Given the description of an element on the screen output the (x, y) to click on. 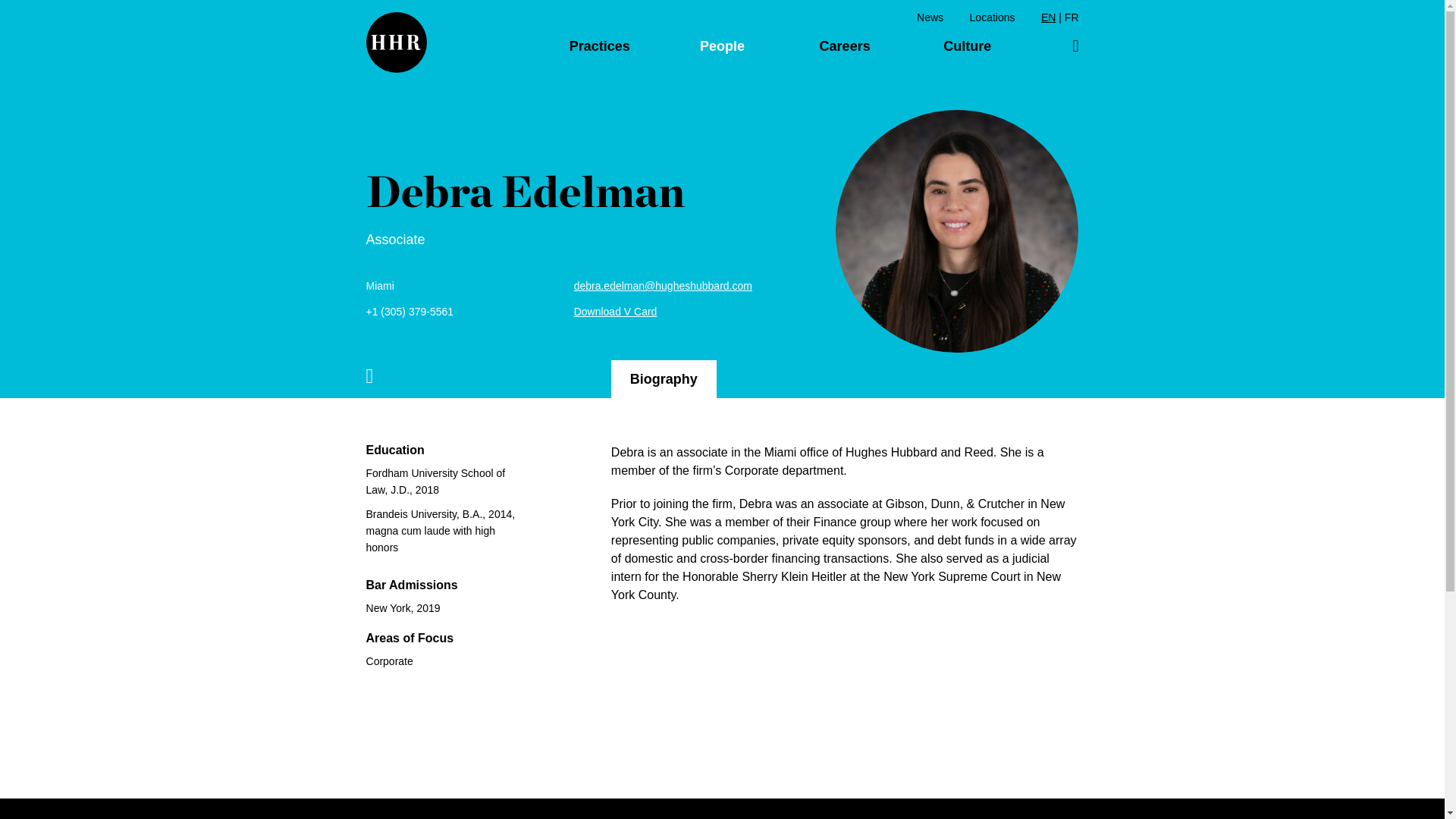
Corporate (446, 660)
EN (1048, 17)
News (930, 17)
FR (1071, 17)
Locations (991, 17)
People (722, 45)
Practices (599, 45)
Download V Card (615, 311)
Biography (663, 378)
